Given the description of an element on the screen output the (x, y) to click on. 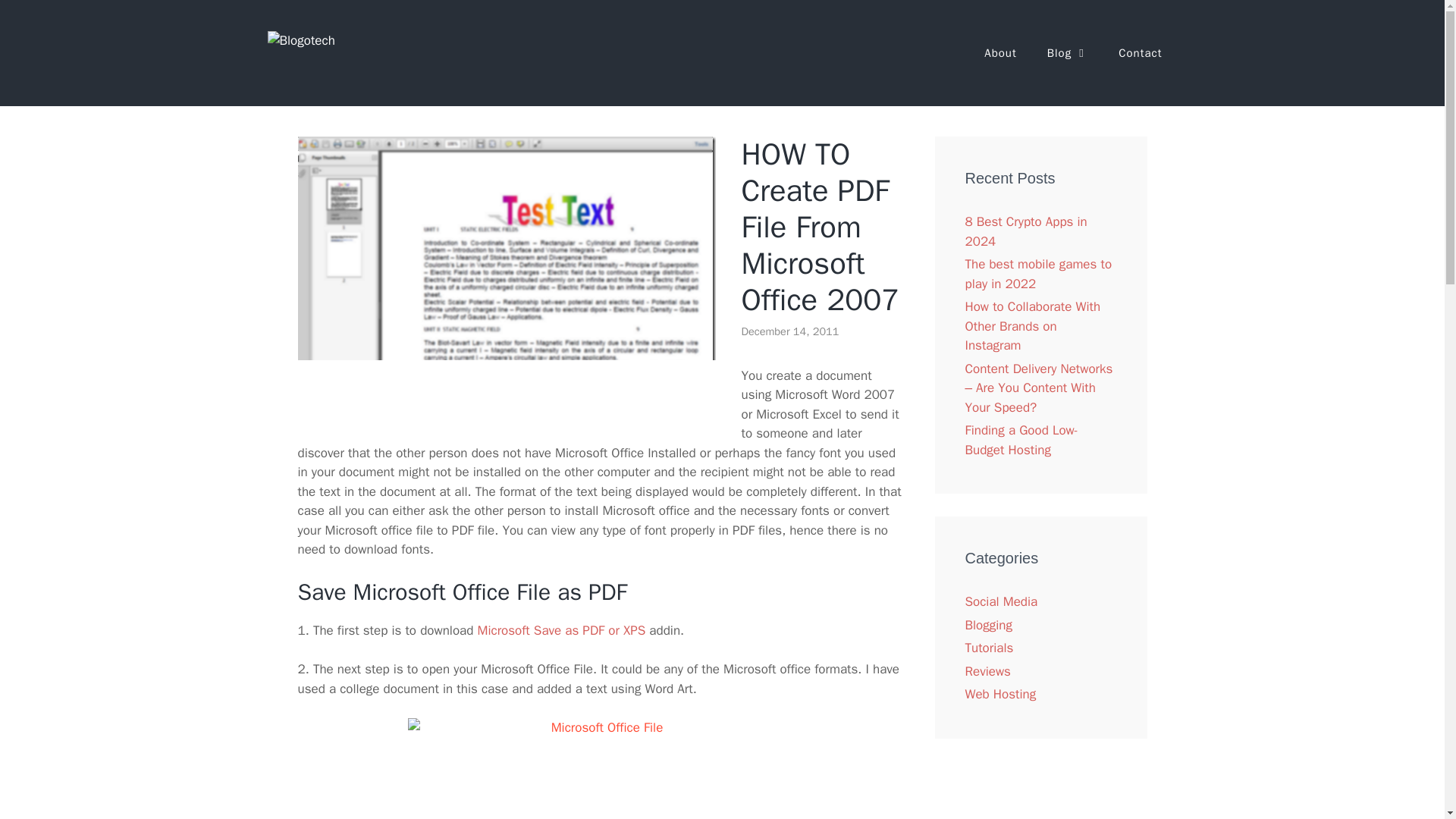
Microsoft-office-File.png (600, 768)
The best mobile games to play in 2022 (1037, 273)
Microsoft Save as PDF or XPS (561, 630)
Finding a Good Low-Budget Hosting (1020, 439)
Web Hosting (999, 693)
Social Media (999, 601)
How to Collaborate With Other Brands on Instagram (1031, 325)
Contact (1139, 53)
8 Best Crypto Apps in 2024 (1024, 231)
Blogotech (300, 39)
